Given the description of an element on the screen output the (x, y) to click on. 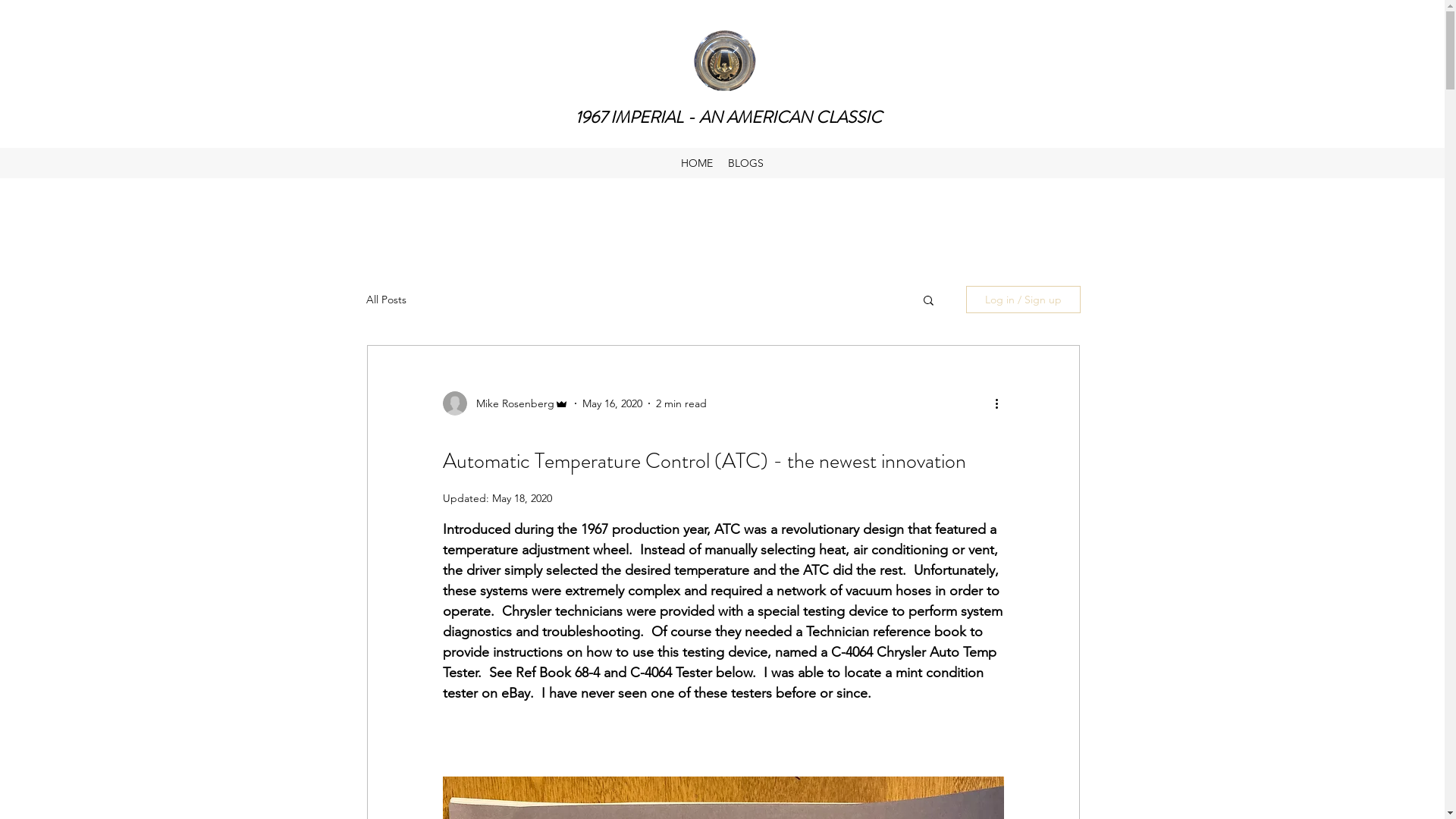
Log in / Sign up Element type: text (1023, 299)
BLOGS Element type: text (745, 162)
1967 IMPERIAL - AN AMERICAN CLASSIC Element type: text (728, 116)
HOME Element type: text (696, 162)
All Posts Element type: text (385, 299)
